Given the description of an element on the screen output the (x, y) to click on. 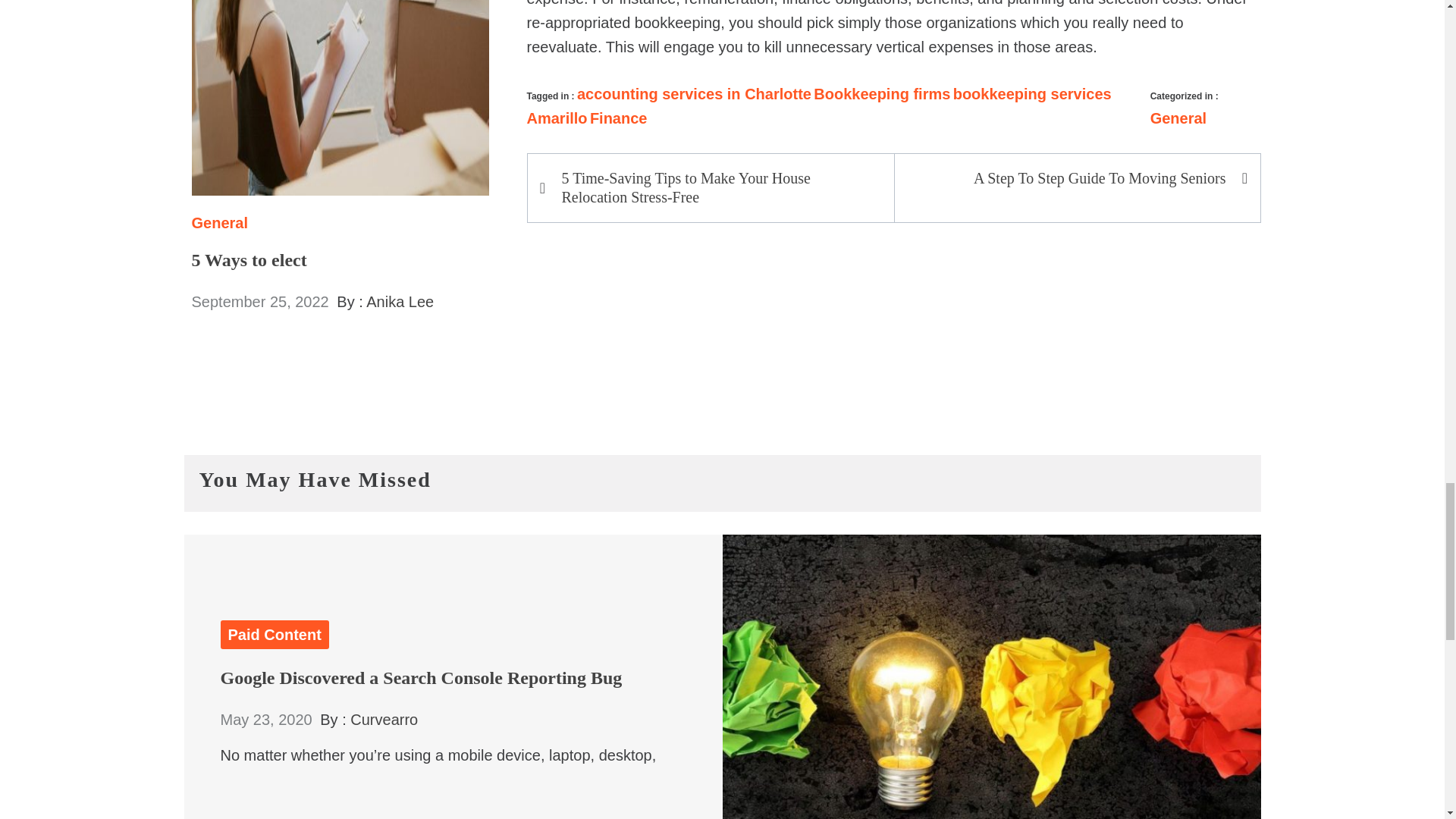
bookkeeping services Amarillo (817, 105)
5 Time-Saving Tips to Make Your House Relocation Stress-Free (718, 187)
A Step To Step Guide To Moving Seniors (1068, 178)
General (1178, 117)
accounting services in Charlotte (693, 93)
Bookkeeping firms (881, 93)
Finance (618, 117)
